Given the description of an element on the screen output the (x, y) to click on. 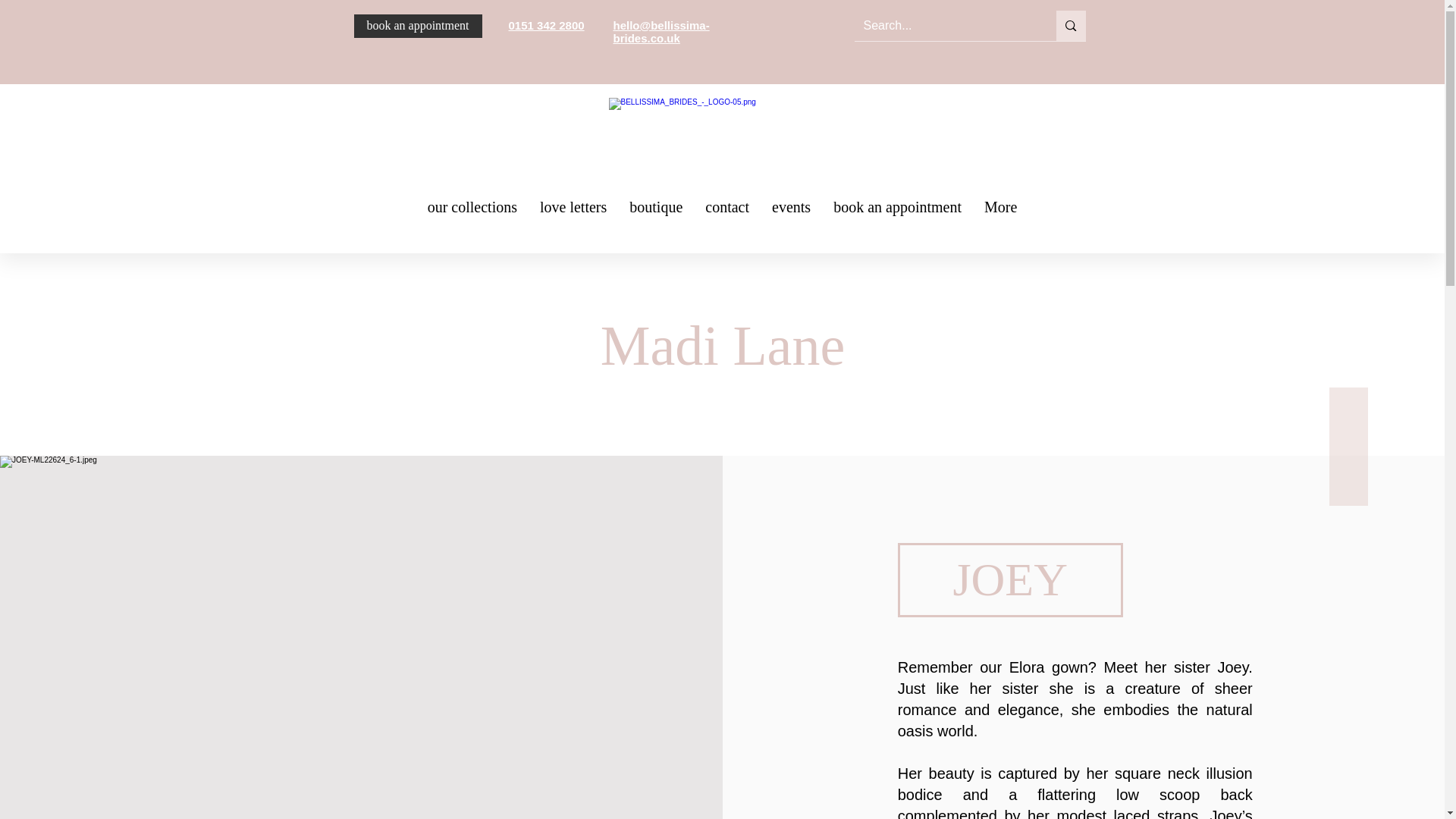
contact (727, 211)
book an appointment (897, 211)
boutique (655, 211)
love letters (572, 211)
our collections (472, 211)
events (791, 211)
book an appointment (417, 25)
0151 342 2800 (545, 24)
